Given the description of an element on the screen output the (x, y) to click on. 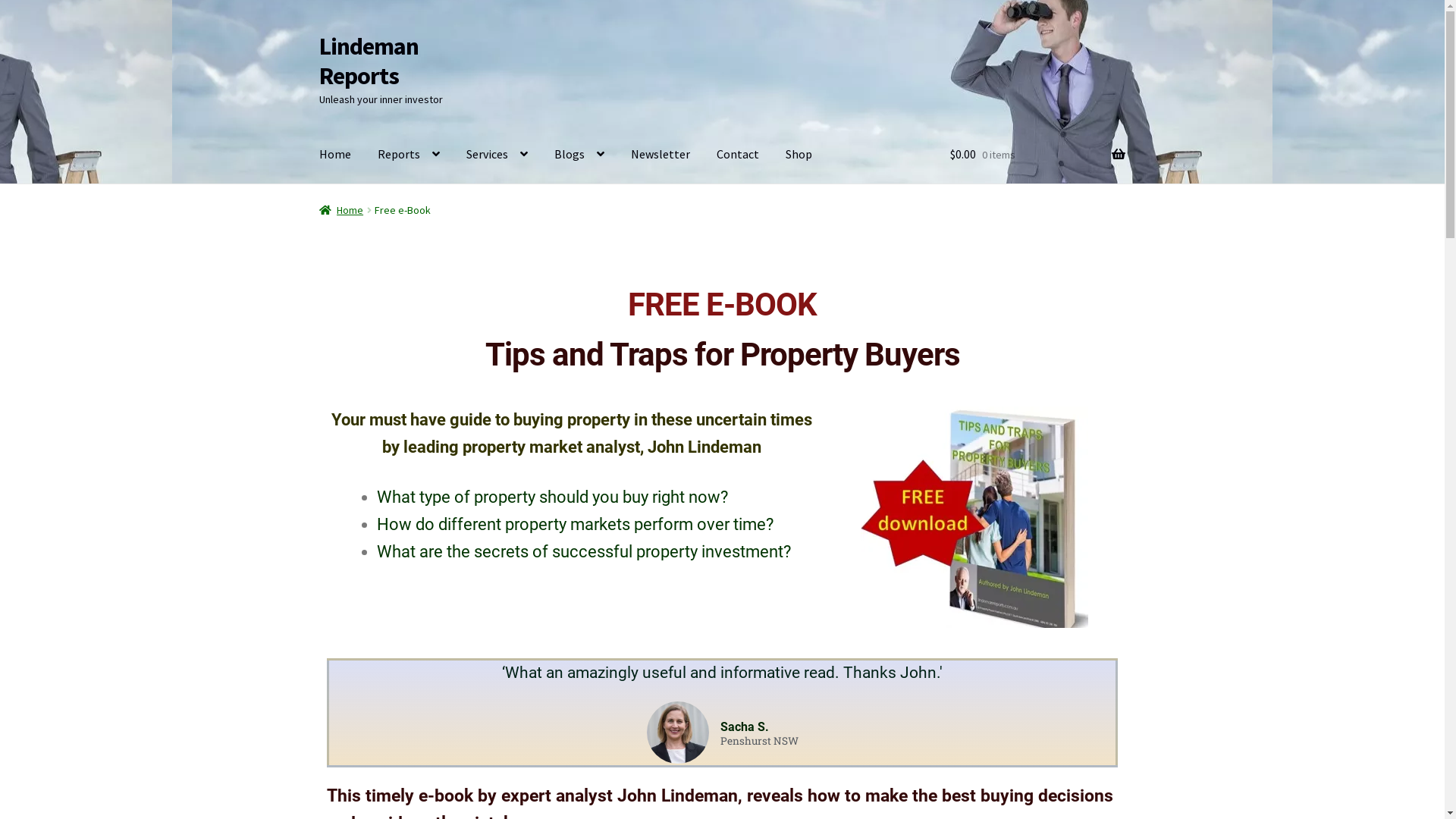
$0.00 0 items Element type: text (1037, 154)
Blogs Element type: text (579, 154)
Contact Element type: text (737, 154)
Home Element type: text (335, 154)
Shop Element type: text (798, 154)
Services Element type: text (496, 154)
Home Element type: text (341, 209)
Lindeman Reports Element type: text (368, 61)
Reports Element type: text (408, 154)
Newsletter Element type: text (660, 154)
